Given the description of an element on the screen output the (x, y) to click on. 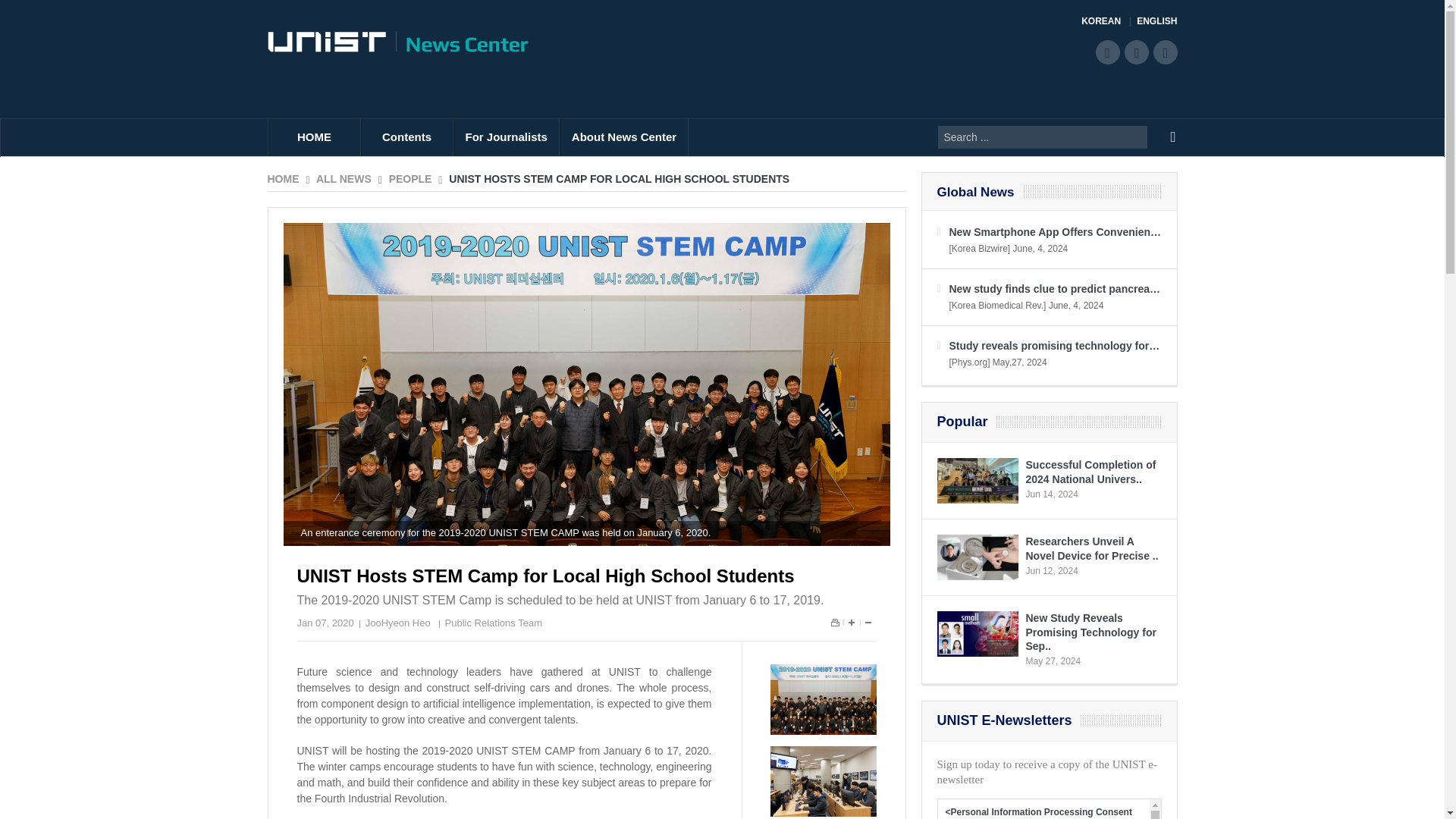
HOME (313, 136)
ENGLISH (1156, 21)
Contents (406, 136)
KOREAN (1105, 21)
